Given the description of an element on the screen output the (x, y) to click on. 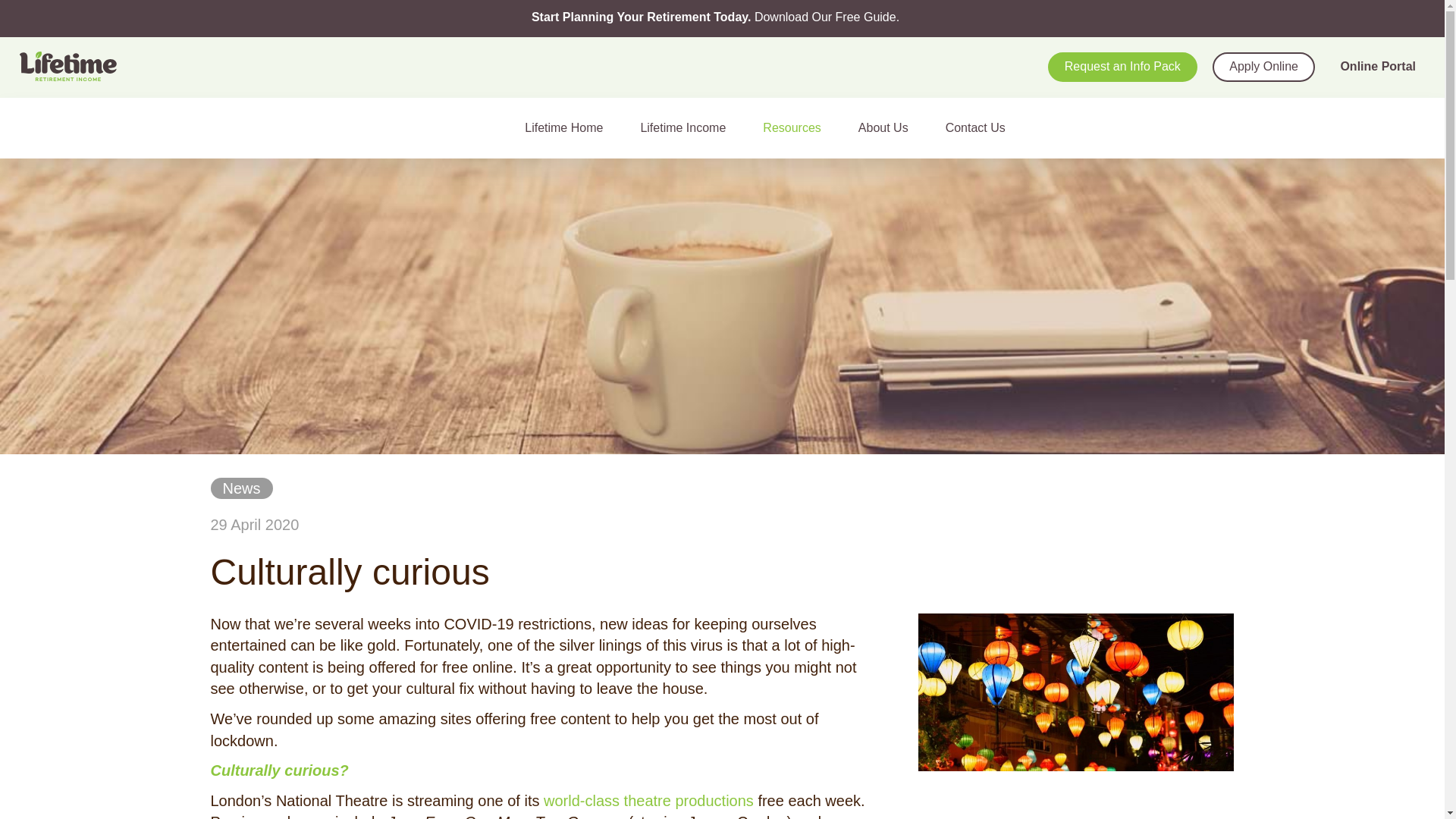
About Us (890, 127)
Resources (797, 127)
Resources (797, 127)
Online Portal (1377, 67)
Lifetime Home (569, 127)
Contact Us (980, 127)
Lifetime Home (569, 127)
Contact Us (980, 127)
Lifetime Income (689, 127)
Apply Online (1263, 66)
Request an Info Pack (1122, 66)
About Us (890, 127)
Lifetime Income (689, 127)
